Given the description of an element on the screen output the (x, y) to click on. 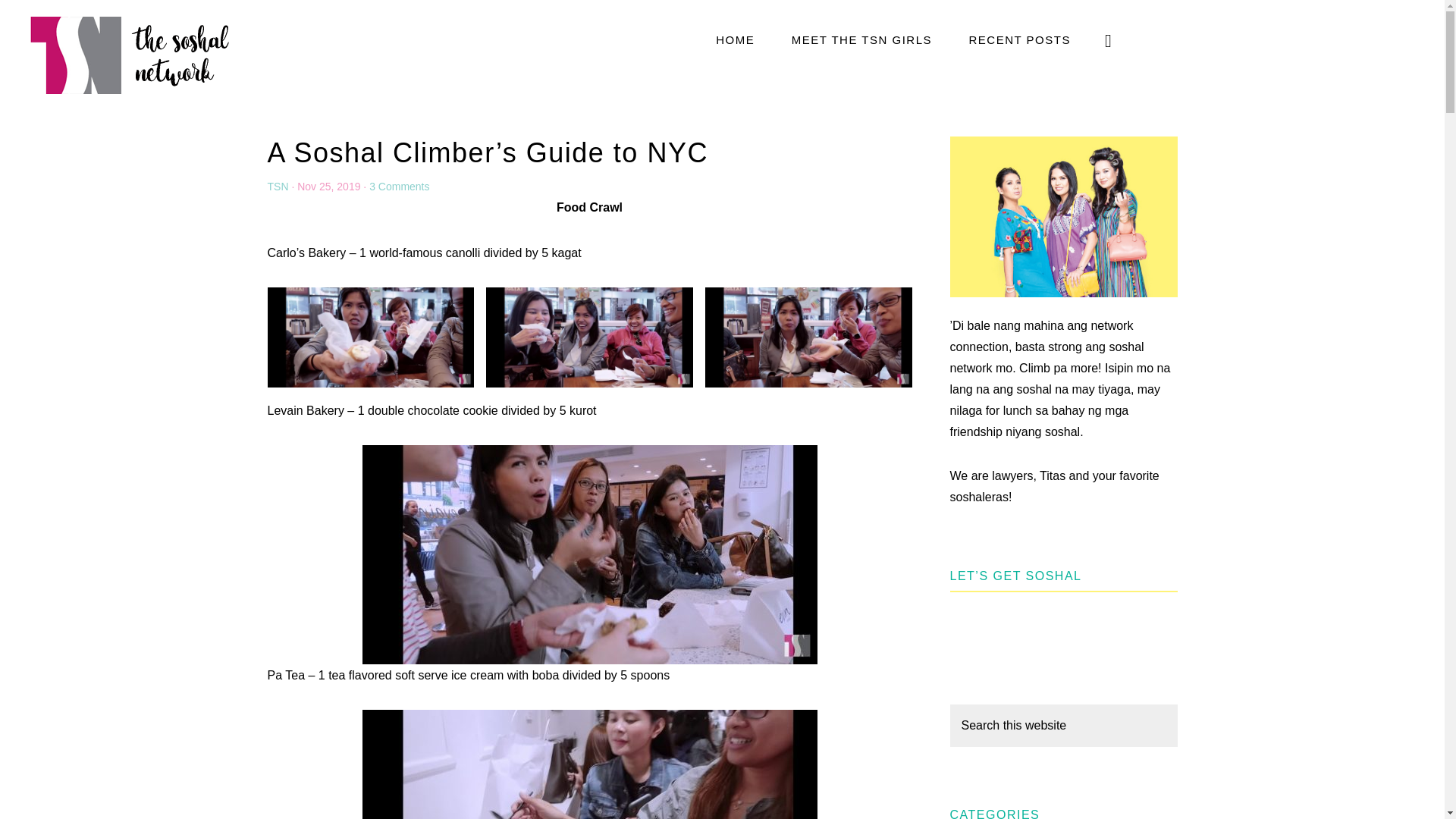
TSN (277, 186)
THE SOSHAL NETWORK (129, 54)
HOME (734, 39)
3 Comments (399, 186)
SHOW SEARCH (1109, 39)
RECENT POSTS (1019, 39)
MEET THE TSN GIRLS (861, 39)
